Given the description of an element on the screen output the (x, y) to click on. 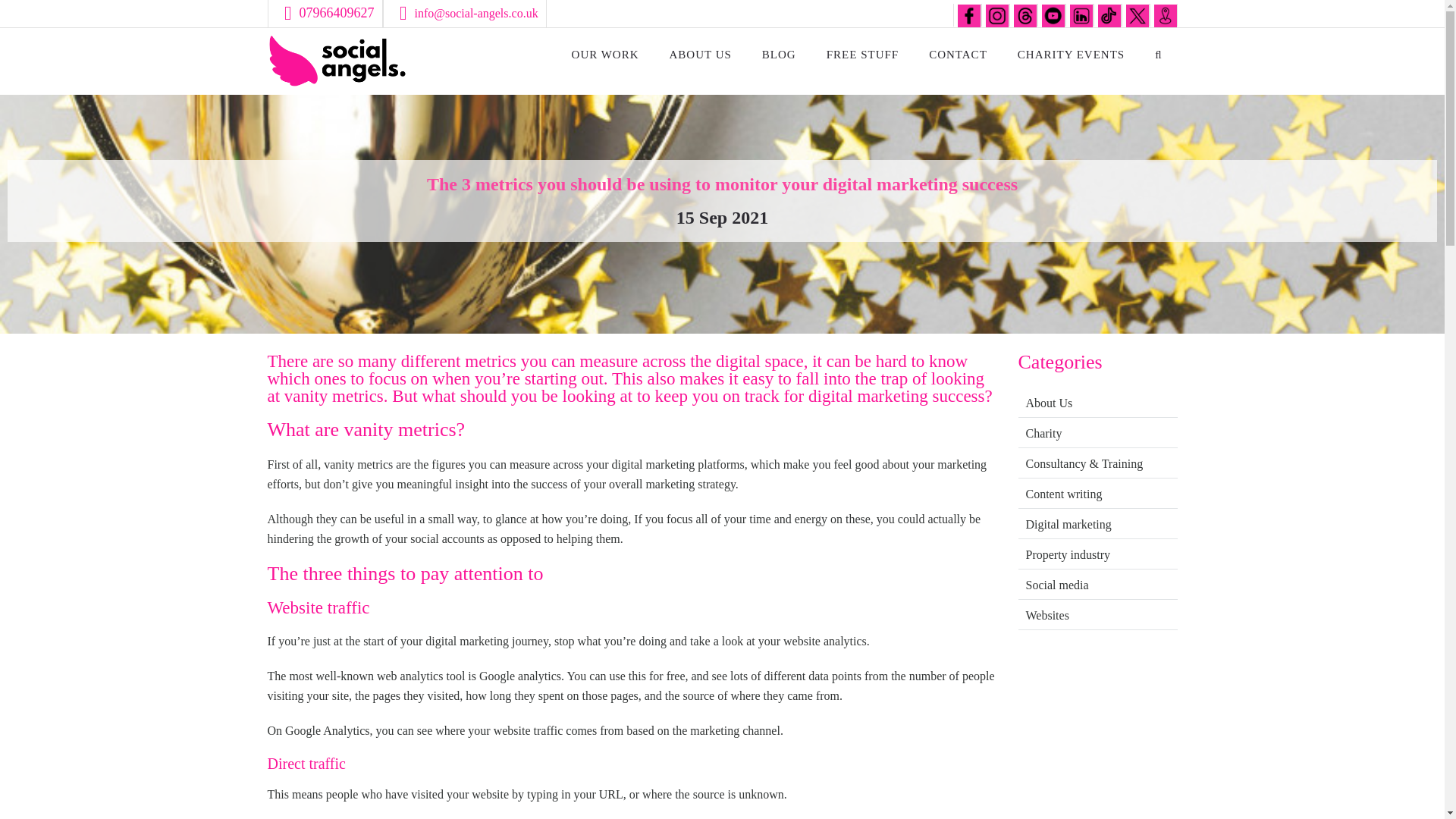
Youtube (1053, 15)
Threads (1024, 15)
Google Business (1165, 15)
Instagram (997, 15)
Twitter (1136, 15)
OUR WORK (605, 55)
Social Angels (340, 59)
TikTok (1109, 15)
SEARCH (1158, 55)
Facebook (967, 15)
LinkedIn (1080, 15)
